Given the description of an element on the screen output the (x, y) to click on. 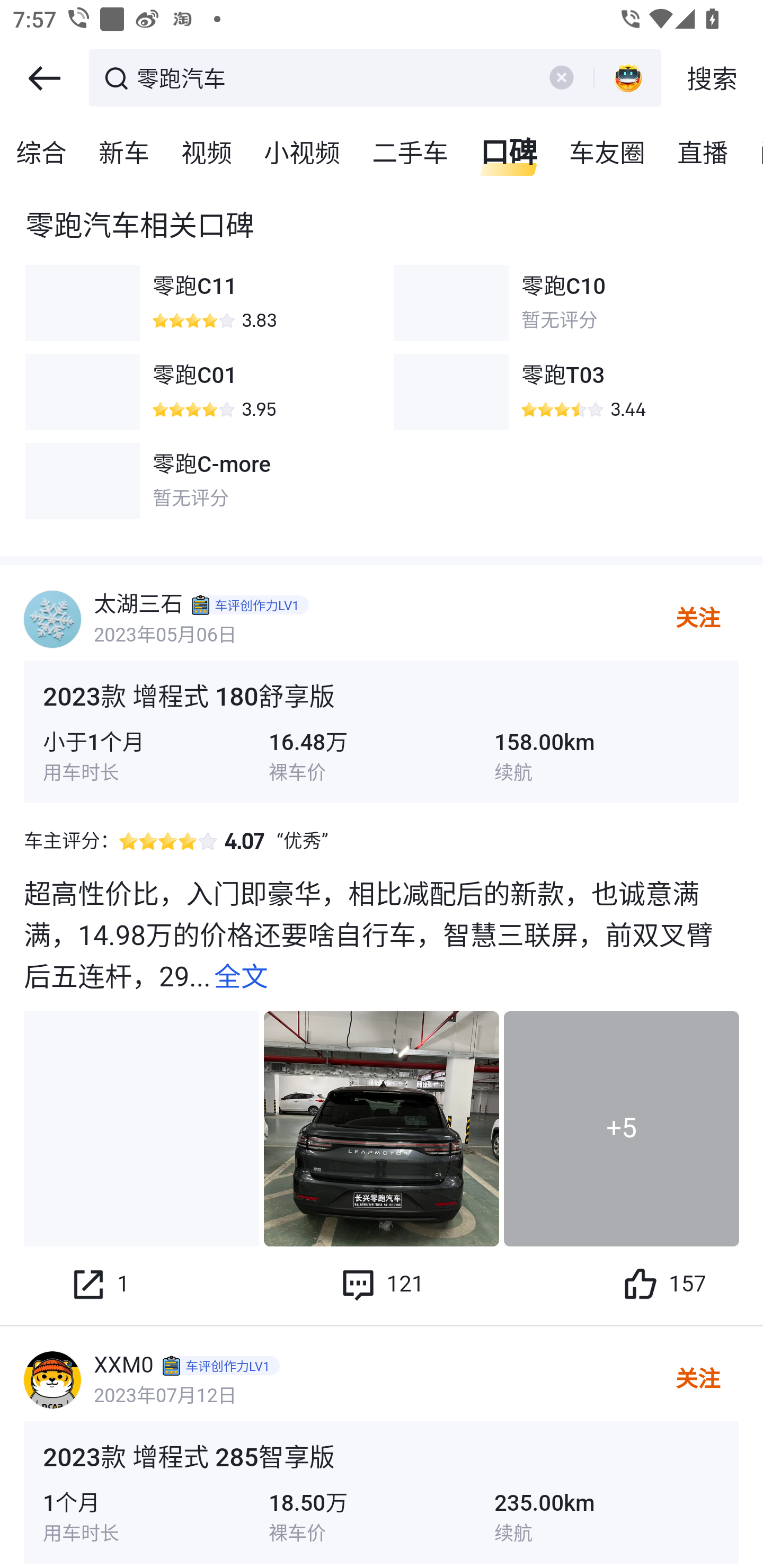
零跑汽车 (331, 76)
 (560, 77)
 (44, 78)
搜索 (711, 78)
综合 (41, 153)
新车 (124, 153)
视频 (207, 153)
小视频 (302, 153)
二手车 (410, 153)
口碑 (508, 153)
车友圈 (608, 153)
直播 (703, 153)
零跑C11 3.83 (196, 302)
零跑C10 暂无评分 (565, 302)
零跑C01 3.95 (196, 391)
零跑T03 3.44 (565, 391)
零跑C-more 暂无评分 (196, 480)
关注 (696, 619)
5dca4359462c211ae53ac967efc56334 车评创作力LV1 (252, 604)
1 (99, 1283)
121 (381, 1283)
157 (663, 1283)
关注 (696, 1379)
5dca4359462c211ae53ac967efc56334 车评创作力LV1 (222, 1364)
2023款 增程式 285智享版 1个月 用车时长 18.50万 裸车价 235.00km 续航 (381, 1494)
